Given the description of an element on the screen output the (x, y) to click on. 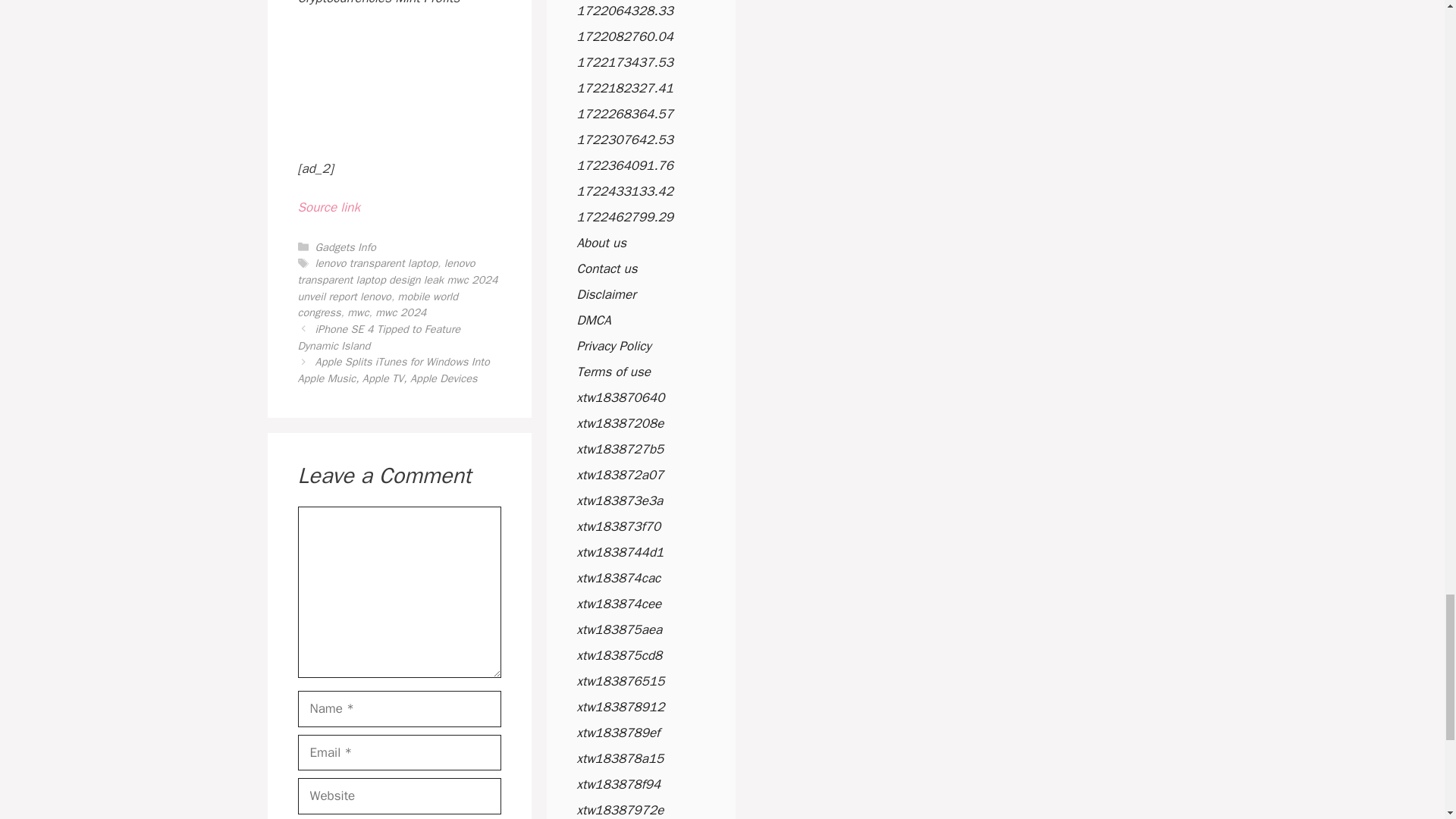
lenovo transparent laptop (376, 263)
mwc (357, 312)
Source link (328, 207)
iPhone SE 4 Tipped to Feature Dynamic Island (378, 337)
mwc 2024 (400, 312)
Gadgets Info (345, 246)
mobile world congress (377, 304)
